Given the description of an element on the screen output the (x, y) to click on. 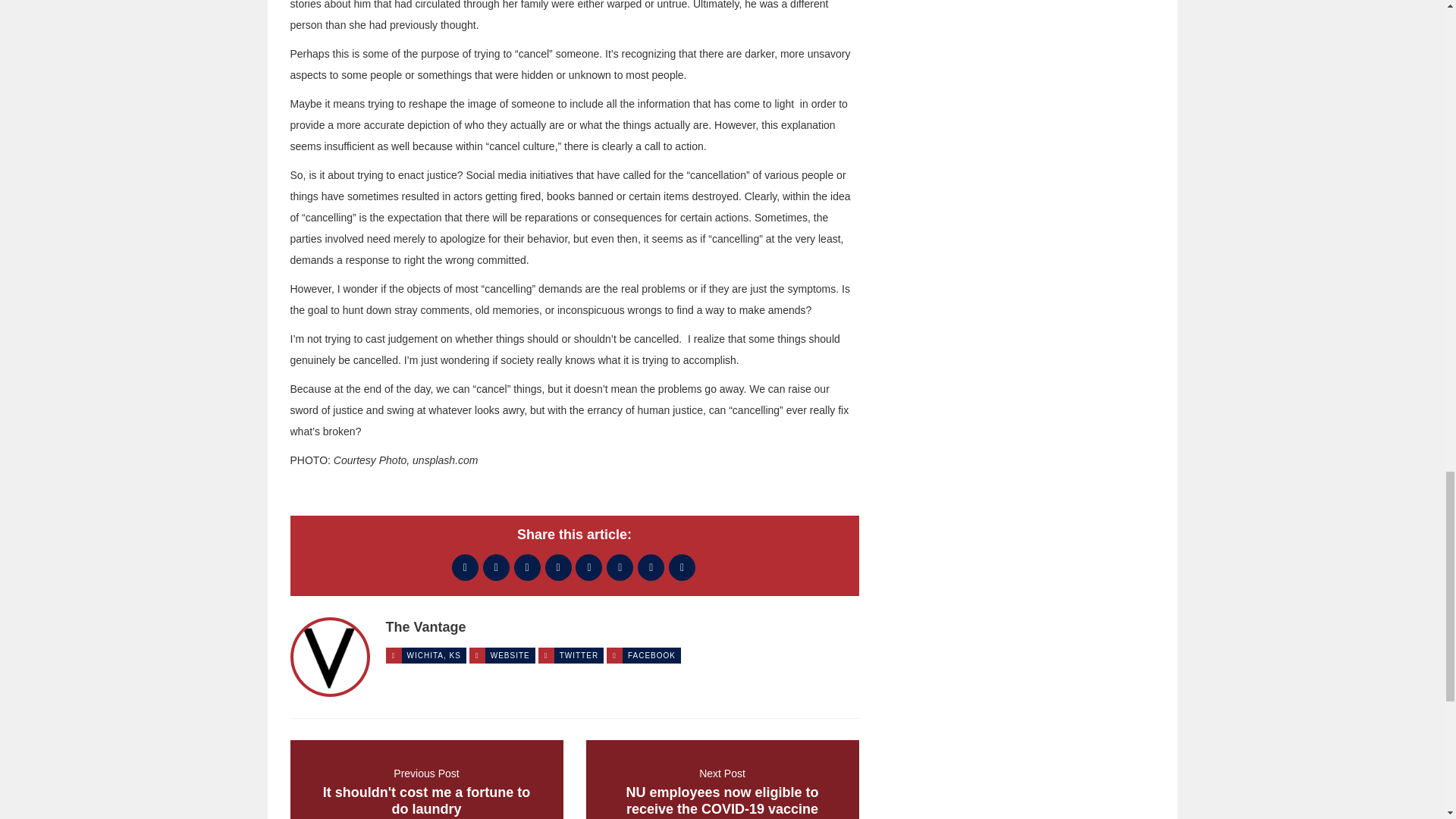
WEBSITE (509, 655)
StumbleUpon (681, 567)
The Vantage (425, 626)
Google Plus (425, 779)
TWITTER (526, 567)
Reddit (578, 655)
Facebook (588, 567)
Pinterest (465, 567)
